Given the description of an element on the screen output the (x, y) to click on. 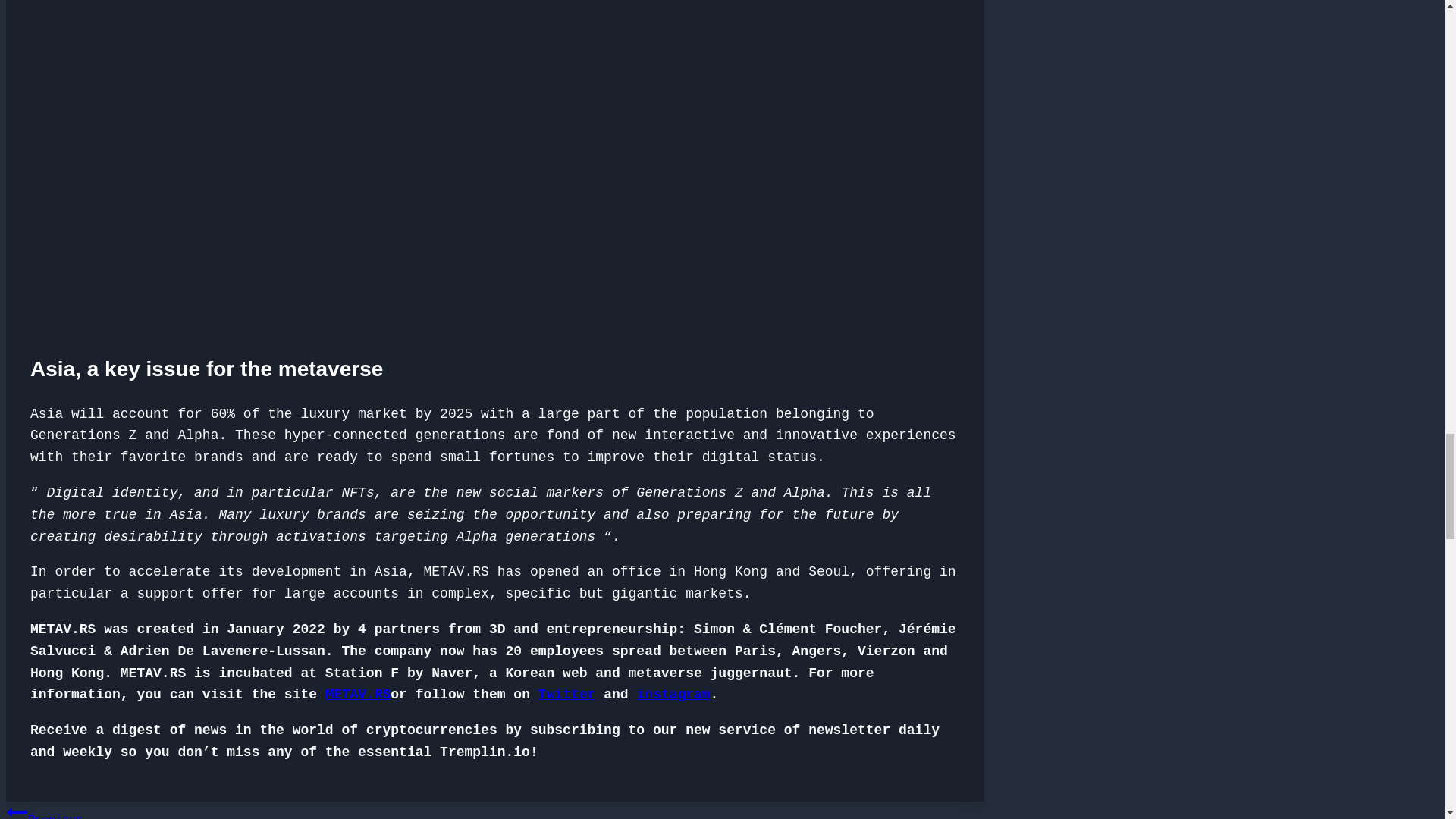
Previous (16, 810)
instagram (673, 694)
Twitter (566, 694)
METAV.RS (357, 694)
